Given the description of an element on the screen output the (x, y) to click on. 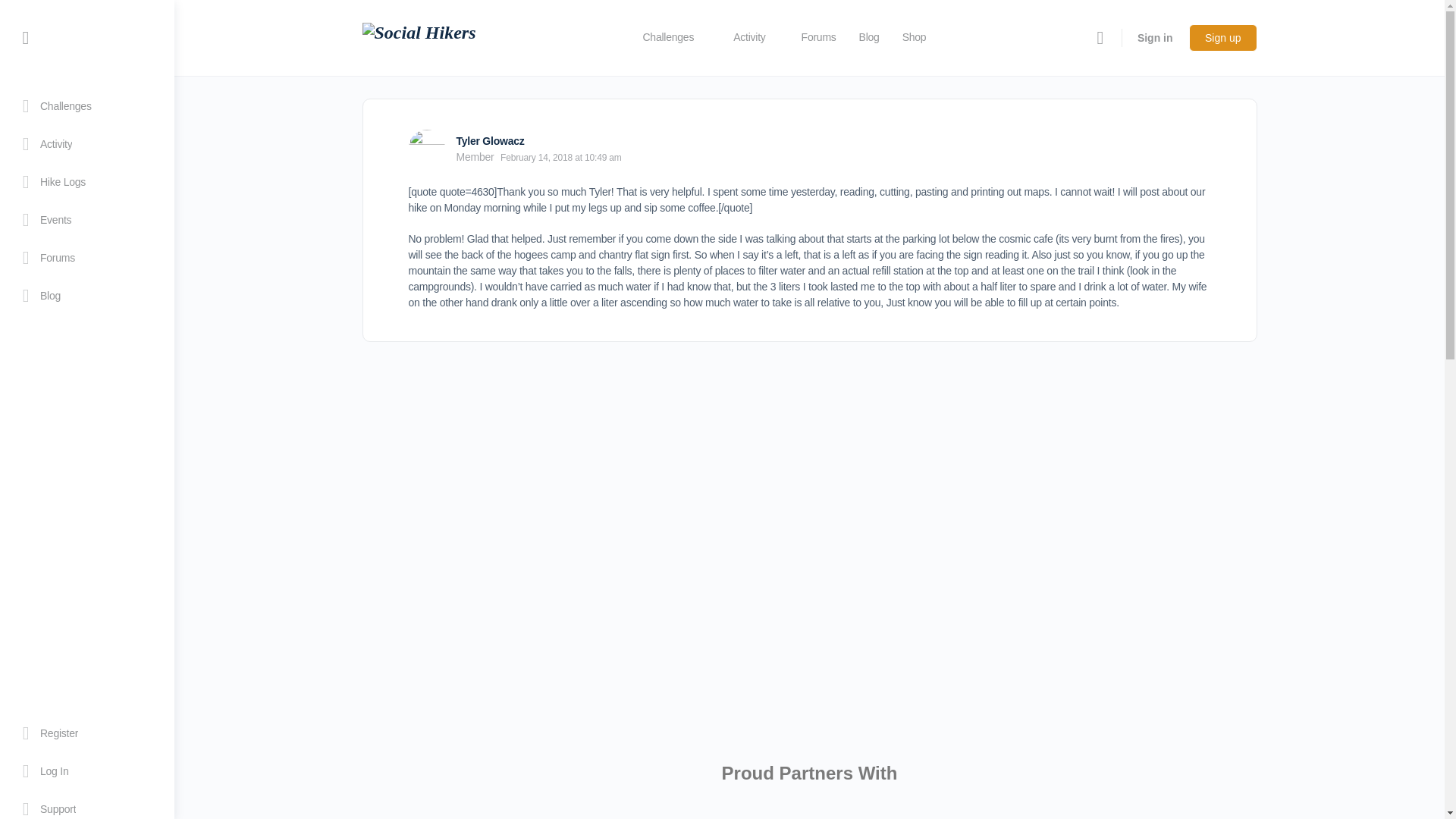
Blog (87, 295)
Forums (87, 257)
Hike Logs (87, 181)
Activity (87, 143)
Challenges (674, 38)
View Tyler Glowacz's profile (490, 141)
Log In (87, 771)
Register (87, 733)
View Tyler Glowacz's profile (425, 147)
Events (87, 219)
